Given the description of an element on the screen output the (x, y) to click on. 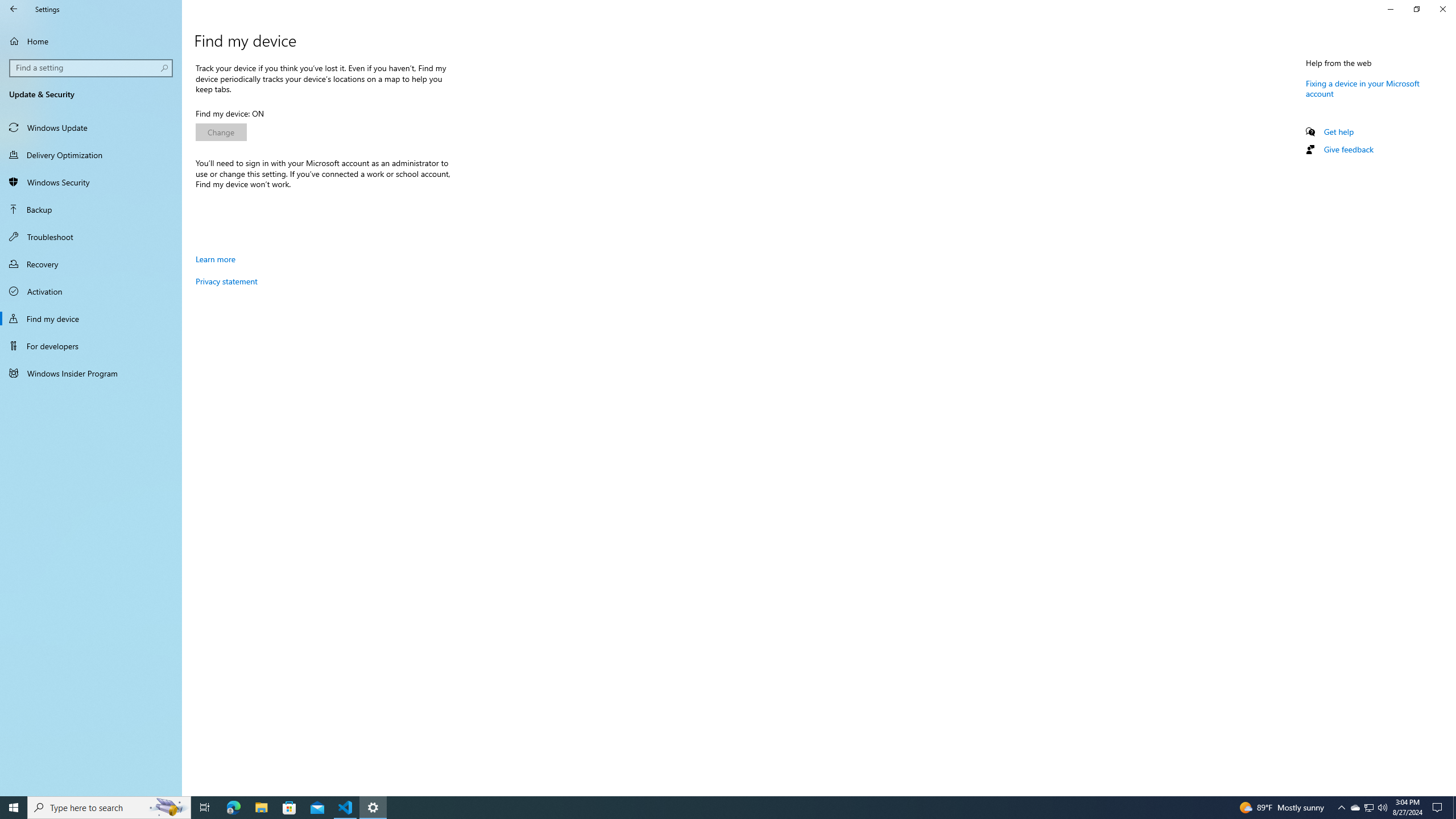
Settings - 1 running window (373, 807)
Give feedback (1348, 149)
Restore Settings (1416, 9)
Minimize Settings (1390, 9)
Microsoft Edge (233, 807)
Search box, Find a setting (91, 67)
Activation (91, 290)
Change (221, 131)
Windows Update (91, 126)
Show desktop (1454, 807)
